Given the description of an element on the screen output the (x, y) to click on. 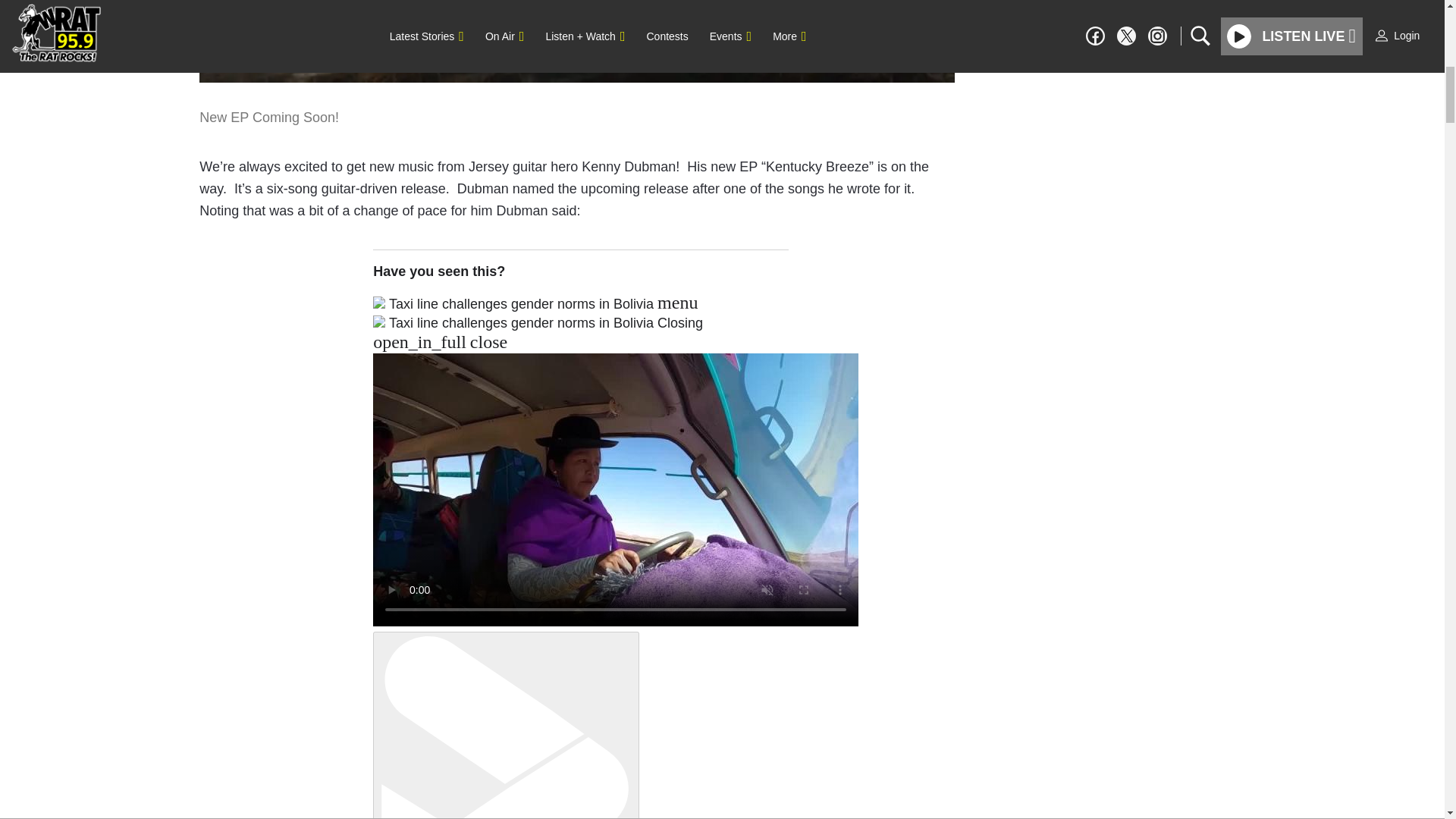
Close AdCheckmark indicating ad close (1434, 11)
